Given the description of an element on the screen output the (x, y) to click on. 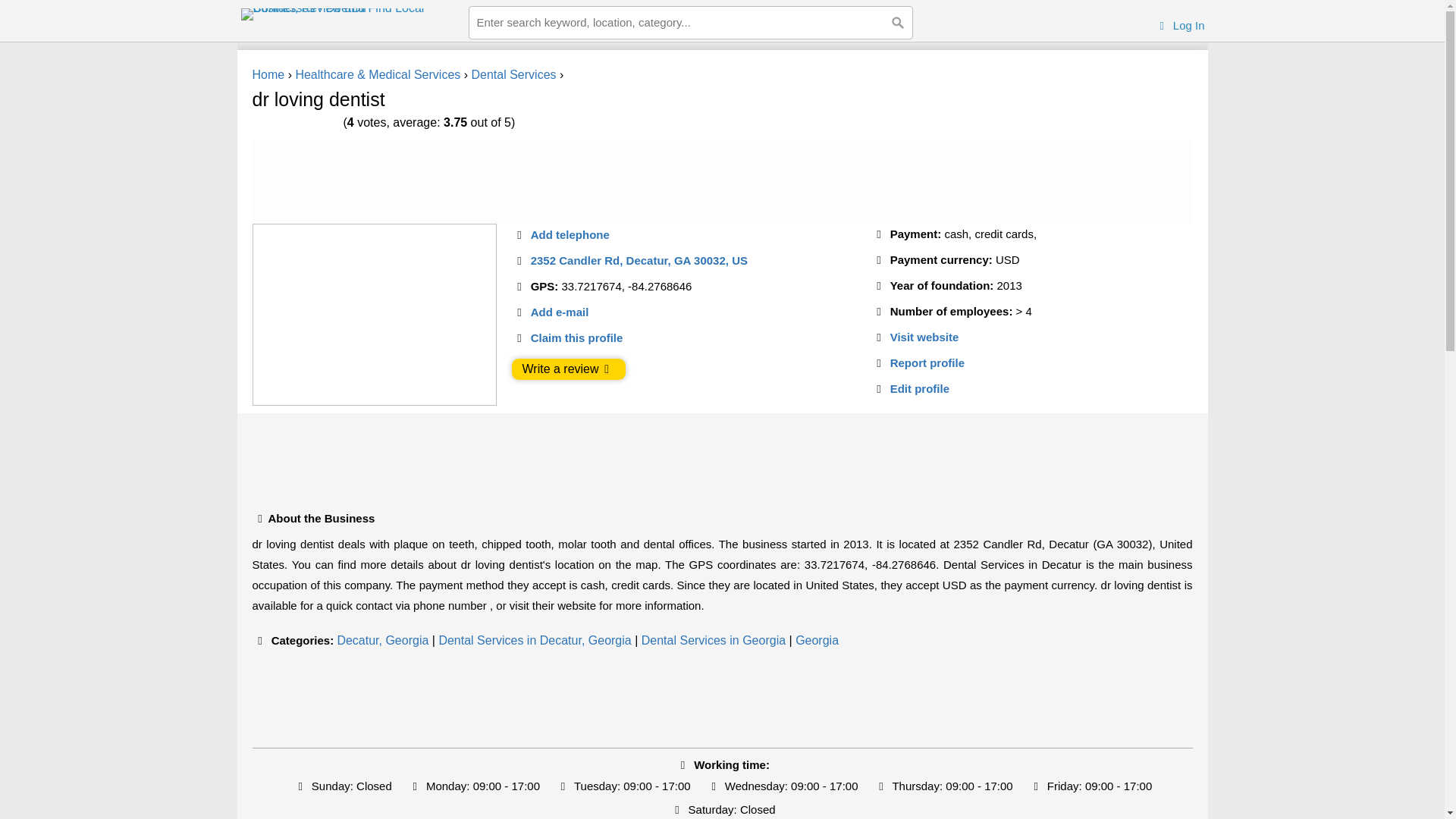
Contact, Review and Find Local Businesses - DeerDir (349, 14)
Decatur, Georgia (382, 640)
Georgia (816, 640)
Dental Services in Georgia (714, 640)
Georgia (816, 640)
Home (267, 74)
Dental Services in Decatur, Georgia (534, 640)
Log In (1179, 24)
Decatur, Georgia (382, 640)
Dental Services in Georgia (714, 640)
